Given the description of an element on the screen output the (x, y) to click on. 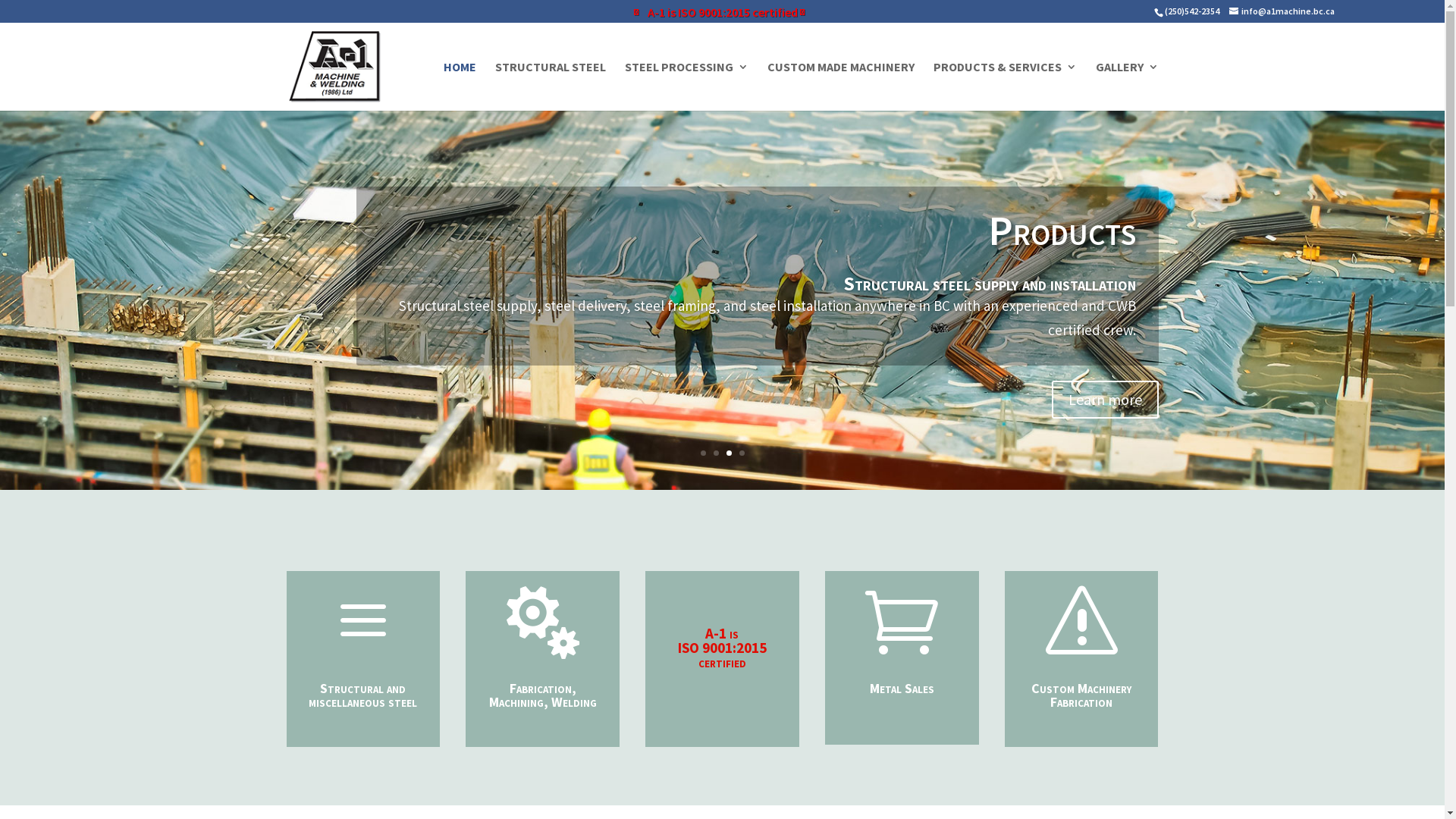
A-1 is
ISO 9001:2015
certified Element type: text (721, 646)
4 Element type: text (740, 452)
HOME Element type: text (458, 85)
s Element type: text (1081, 622)
a Element type: text (362, 622)
STRUCTURAL STEEL Element type: text (549, 85)
info@a1machine.bc.ca Element type: text (1281, 10)
CUSTOM MADE MACHINERY Element type: text (840, 85)
Fabrication, Machining, Welding Element type: text (542, 694)
Products Element type: text (1061, 229)
Learn more Element type: text (1104, 399)
Structural and miscellaneous steel Element type: text (362, 694)
Metal Sales Element type: text (901, 687)
STEEL PROCESSING Element type: text (686, 85)
3 Element type: text (728, 452)
PRODUCTS & SERVICES Element type: text (1004, 85)
GALLERY Element type: text (1126, 85)
1 Element type: text (703, 452)
2 Element type: text (715, 452)
Custom Machinery Fabrication Element type: text (1081, 694)
